Given the description of an element on the screen output the (x, y) to click on. 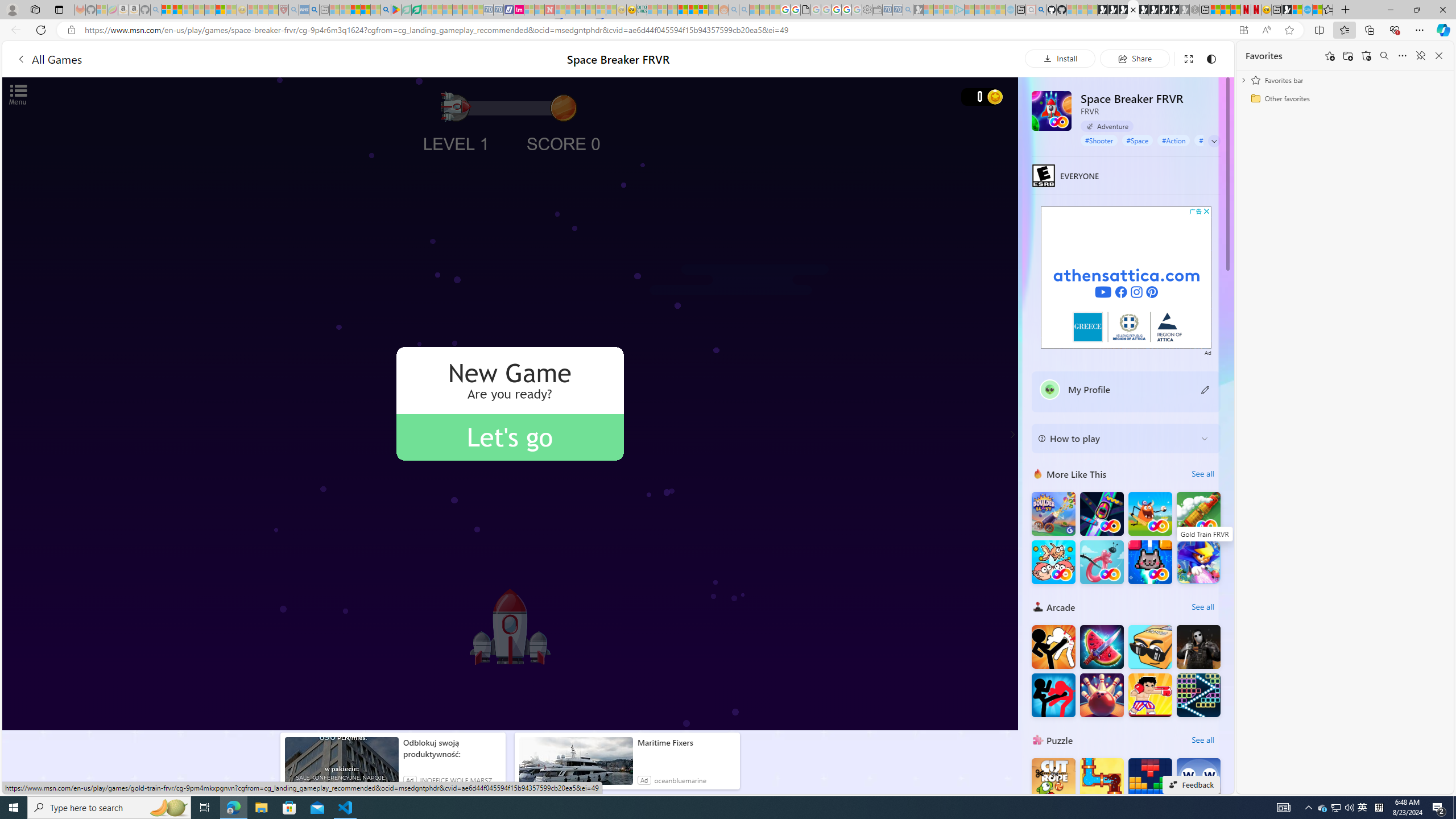
How to play (1116, 438)
#Sci Fi (1208, 140)
Adventure (1107, 125)
Bricks Breaker Deluxe Crusher (1198, 694)
Stickman fighter : Epic battle (1053, 694)
Microsoft Word - consumer-privacy address update 2.2021 (416, 9)
